Given the description of an element on the screen output the (x, y) to click on. 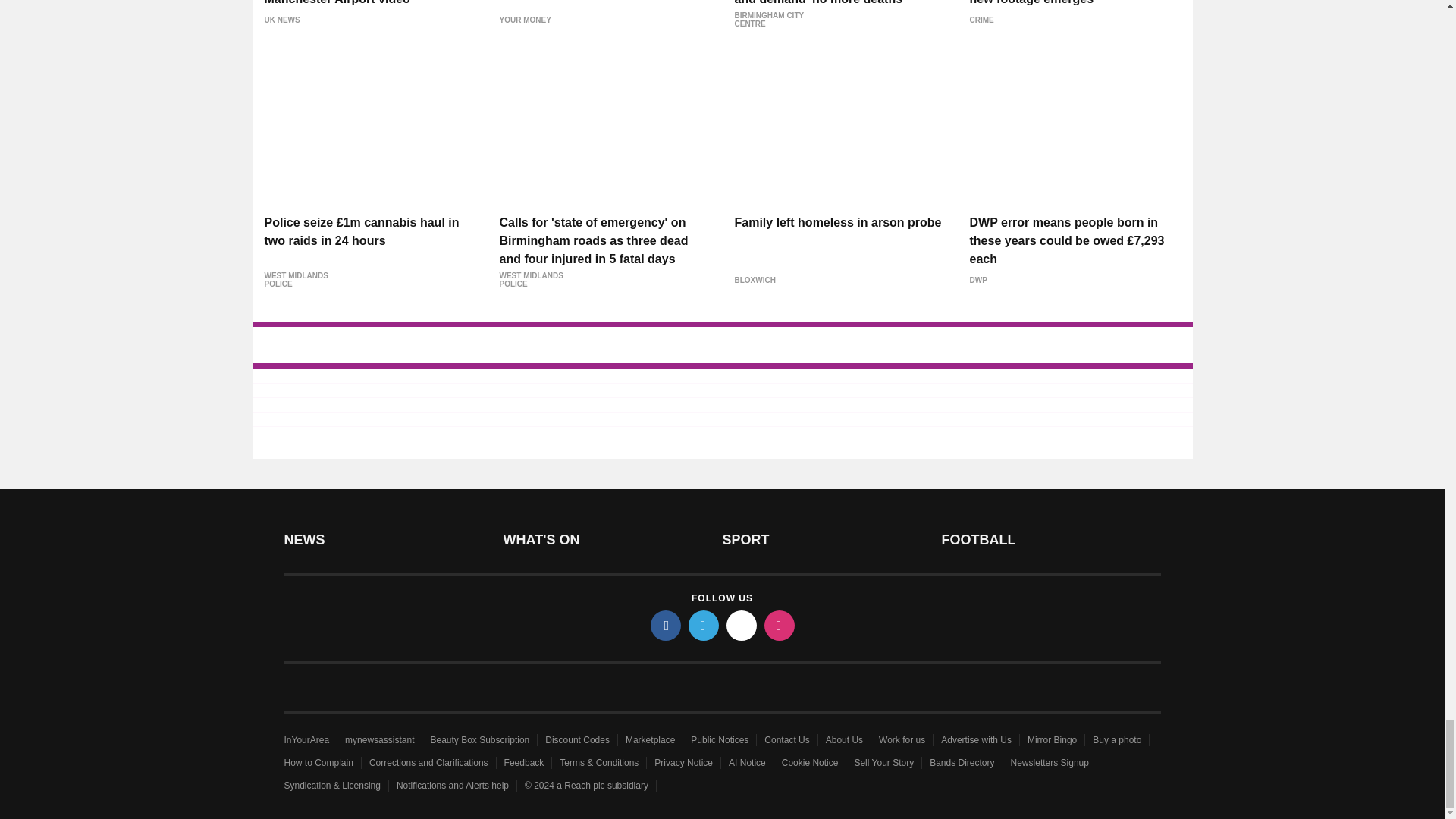
facebook (665, 625)
instagram (779, 625)
twitter (703, 625)
tiktok (741, 625)
